Given the description of an element on the screen output the (x, y) to click on. 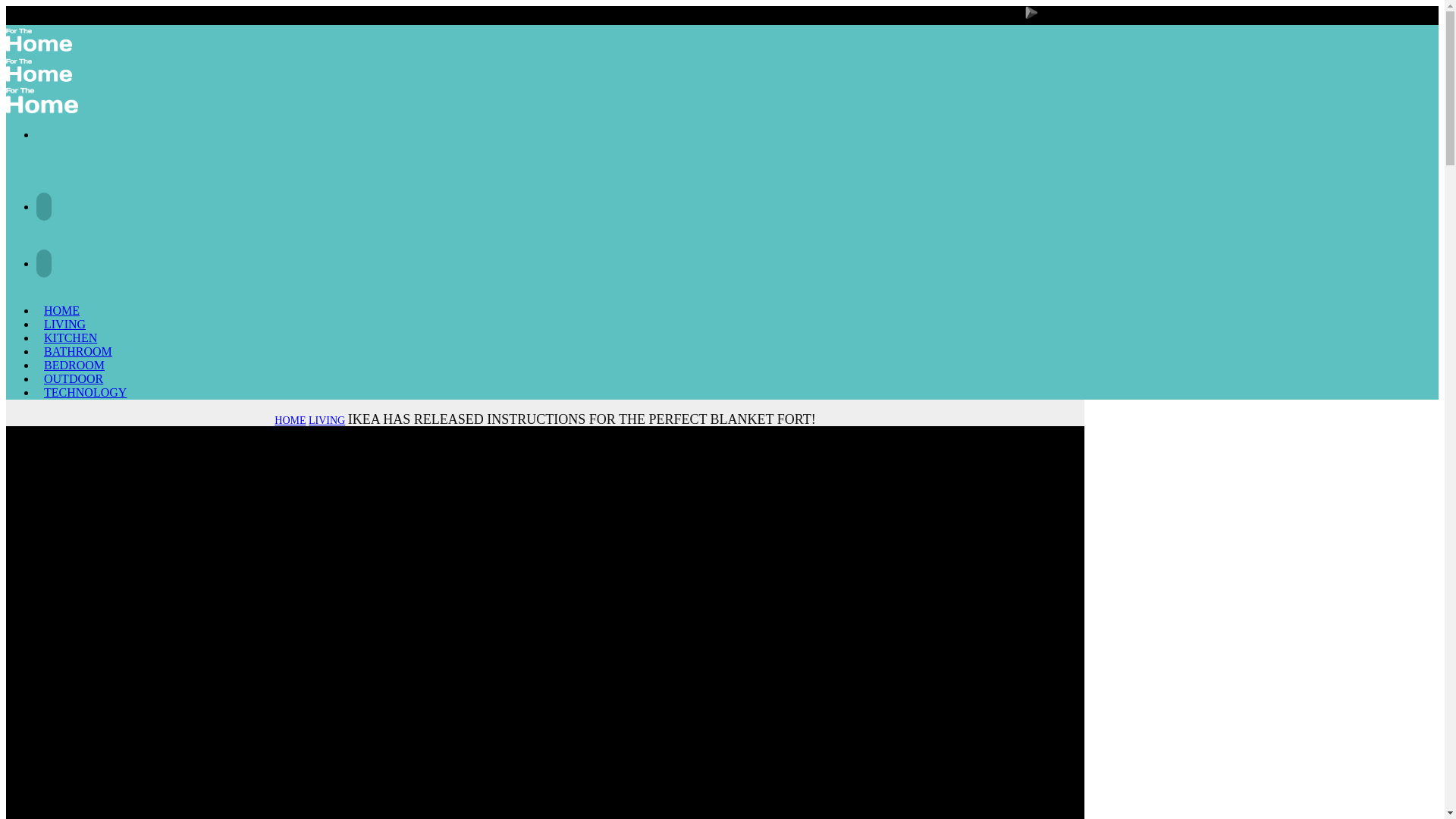
KITCHEN Element type: text (70, 337)
Search Element type: hover (45, 134)
Search Element type: text (1424, 102)
Facebook Element type: hover (43, 206)
LIVING Element type: text (326, 420)
BATHROOM Element type: text (77, 351)
OUTDOOR Element type: text (73, 378)
LIVING Element type: text (64, 323)
HOME Element type: text (289, 420)
Instagram Element type: hover (43, 263)
HOME Element type: text (61, 310)
BEDROOM Element type: text (74, 364)
TECHNOLOGY Element type: text (85, 391)
For The Home Australia Element type: hover (545, 70)
